Given the description of an element on the screen output the (x, y) to click on. 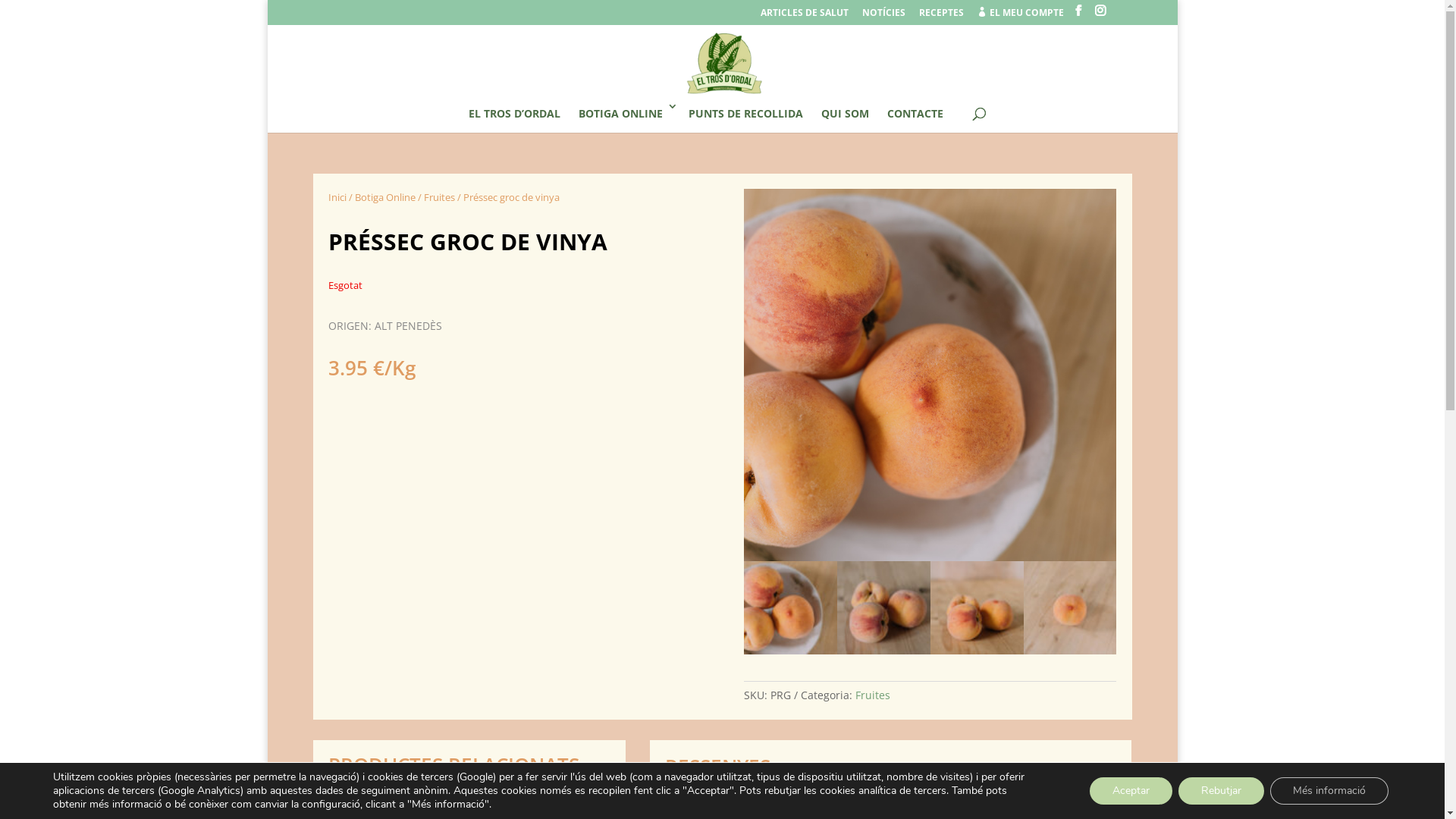
CONTACTE Element type: text (914, 115)
ARTICLES DE SALUT Element type: text (803, 16)
PUNTS DE RECOLLIDA Element type: text (745, 115)
RECEPTES Element type: text (941, 16)
Aceptar Element type: text (1130, 790)
Botiga Online Element type: text (384, 196)
QUI SOM Element type: text (843, 115)
Rebutjar Element type: text (1221, 790)
Fruites Element type: text (872, 694)
BOTIGA ONLINE Element type: text (623, 115)
Inici Element type: text (336, 196)
Fruites Element type: text (438, 196)
